Given the description of an element on the screen output the (x, y) to click on. 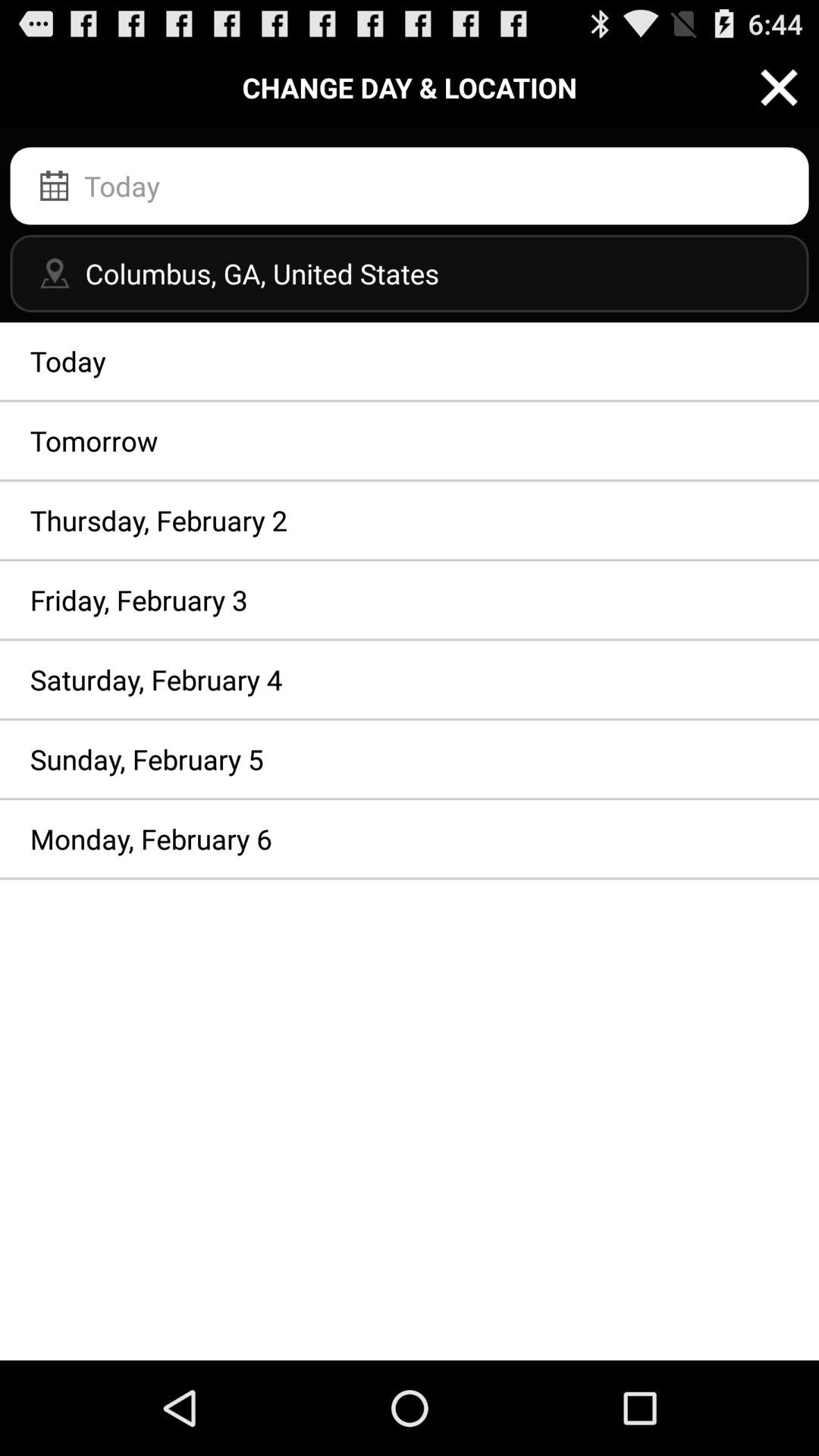
select item to the right of the change day & location (779, 87)
